Given the description of an element on the screen output the (x, y) to click on. 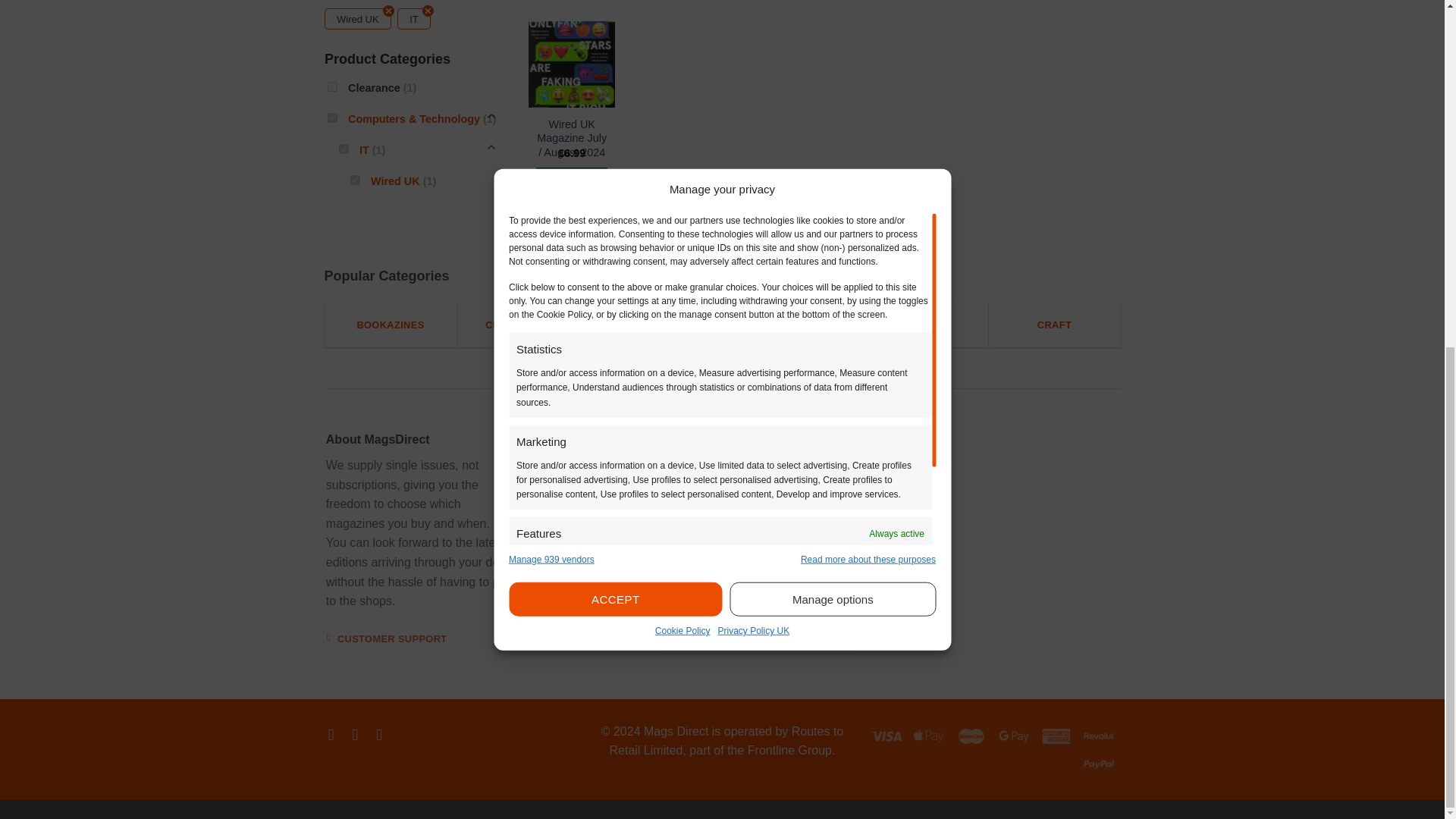
Cookie Policy (682, 33)
Follow on Twitter (383, 733)
Follow on Facebook (336, 733)
Manage options (833, 9)
ACCEPT (615, 9)
Privacy Policy UK (753, 33)
Follow on Instagram (360, 733)
